Given the description of an element on the screen output the (x, y) to click on. 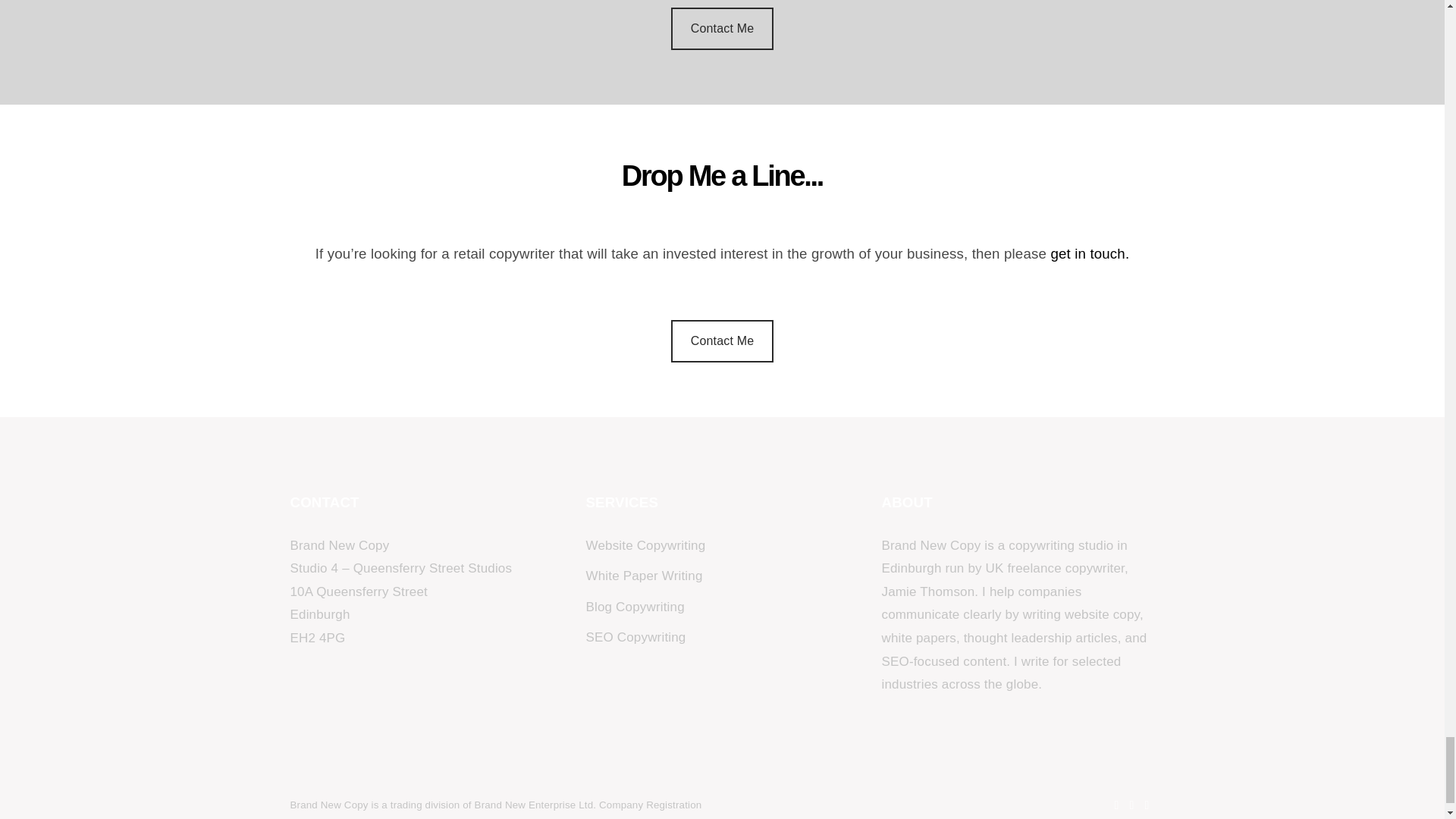
Drop Me a Line... (721, 194)
